Given the description of an element on the screen output the (x, y) to click on. 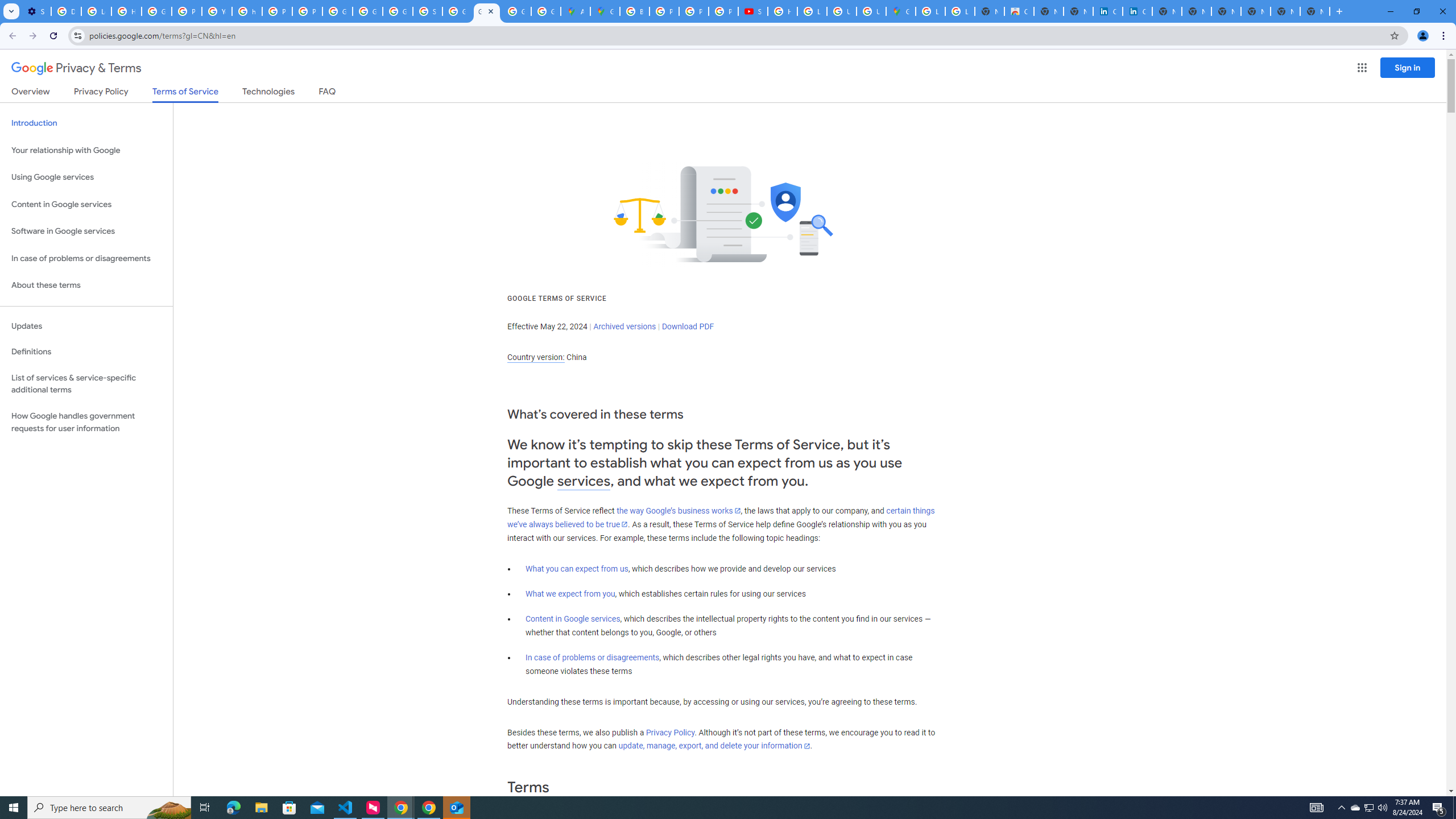
What you can expect from us (576, 568)
New Tab (1314, 11)
services (583, 480)
In case of problems or disagreements (592, 657)
Google Maps (604, 11)
Country version: (535, 357)
How Chrome protects your passwords - Google Chrome Help (782, 11)
Google Maps (900, 11)
